Given the description of an element on the screen output the (x, y) to click on. 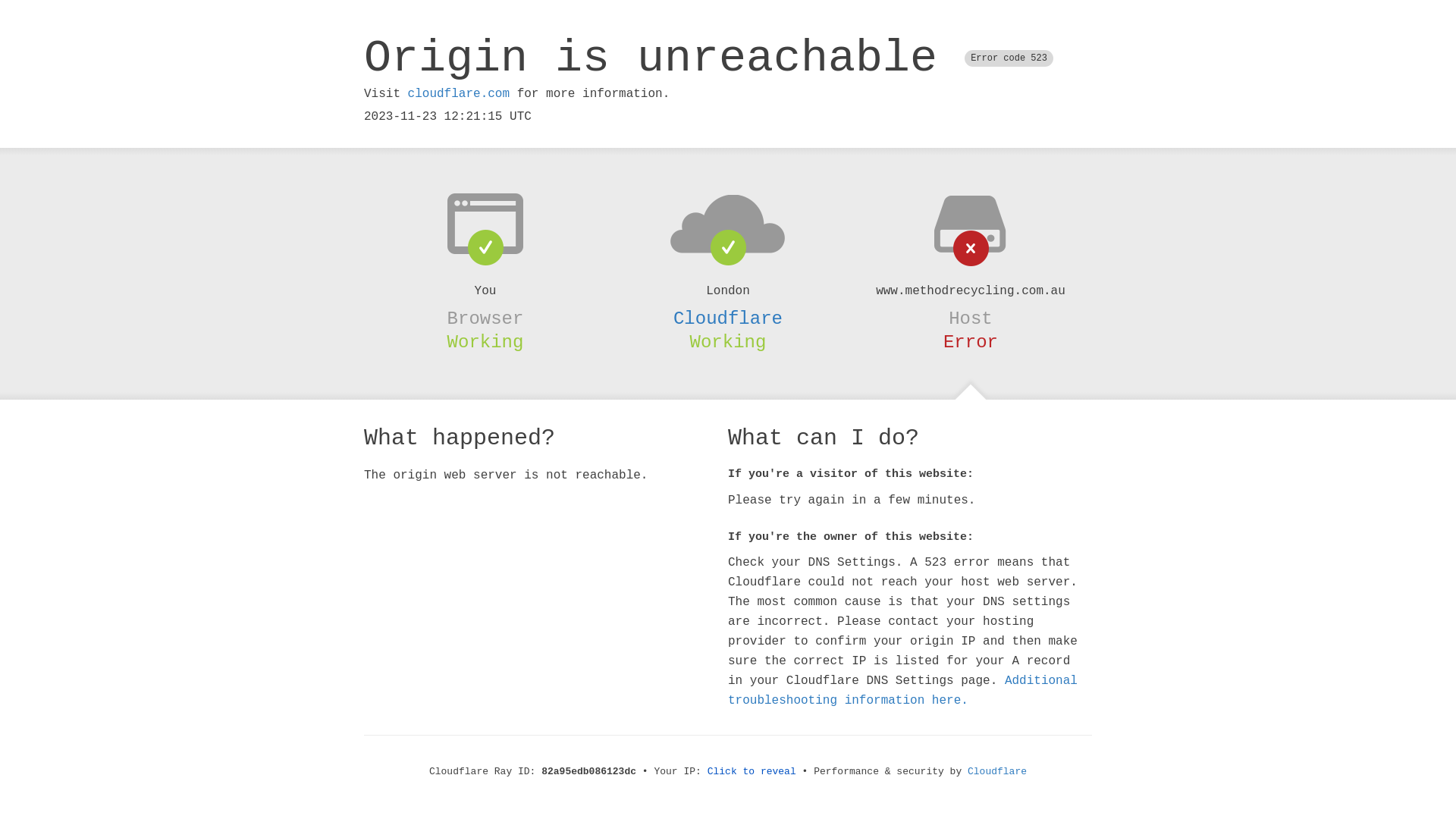
Click to reveal Element type: text (751, 771)
Cloudflare Element type: text (996, 771)
cloudflare.com Element type: text (458, 93)
Additional troubleshooting information here. Element type: text (902, 690)
Cloudflare Element type: text (727, 318)
